Given the description of an element on the screen output the (x, y) to click on. 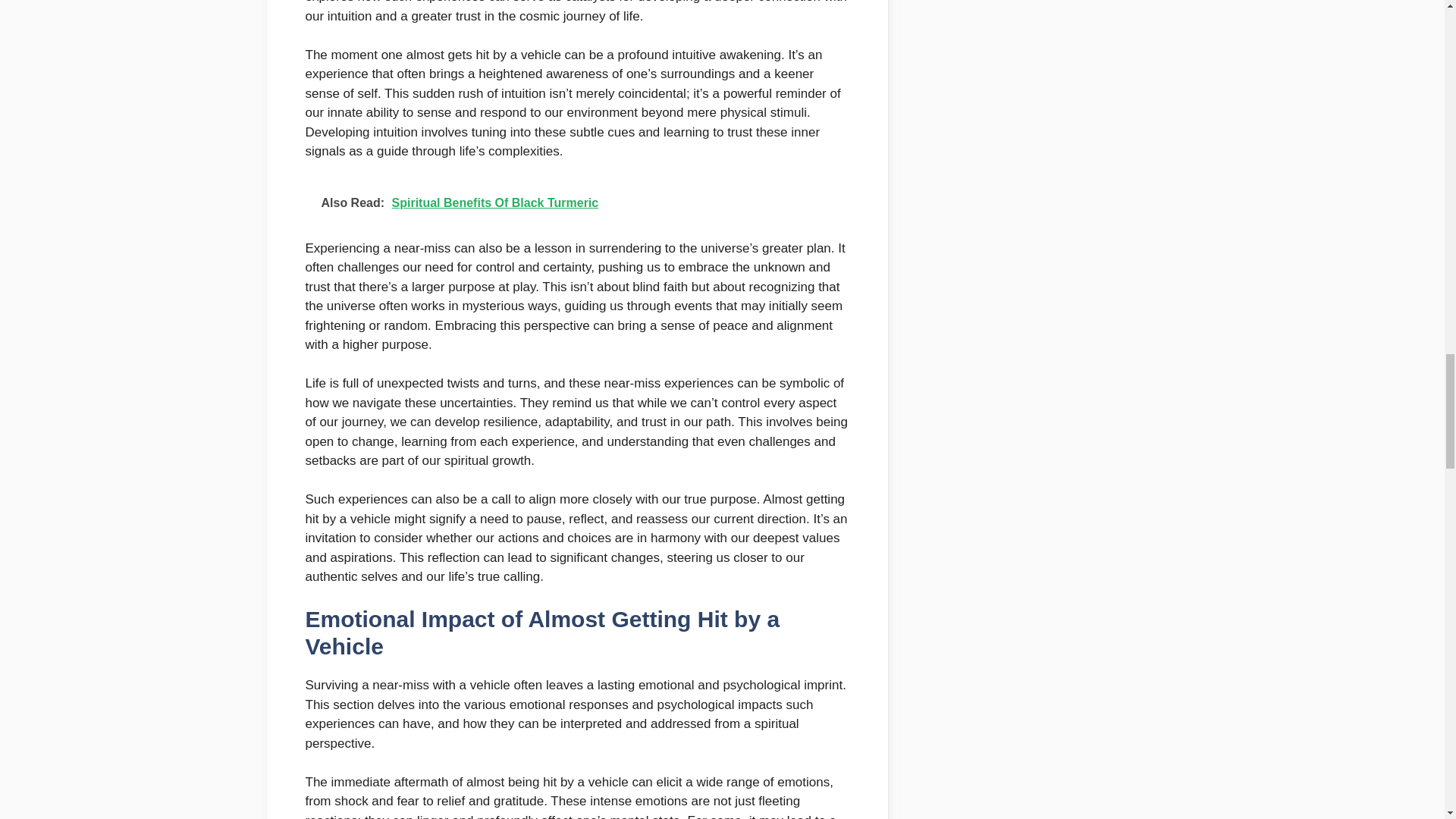
Also Read:  Spiritual Benefits Of Black Turmeric (576, 203)
